Given the description of an element on the screen output the (x, y) to click on. 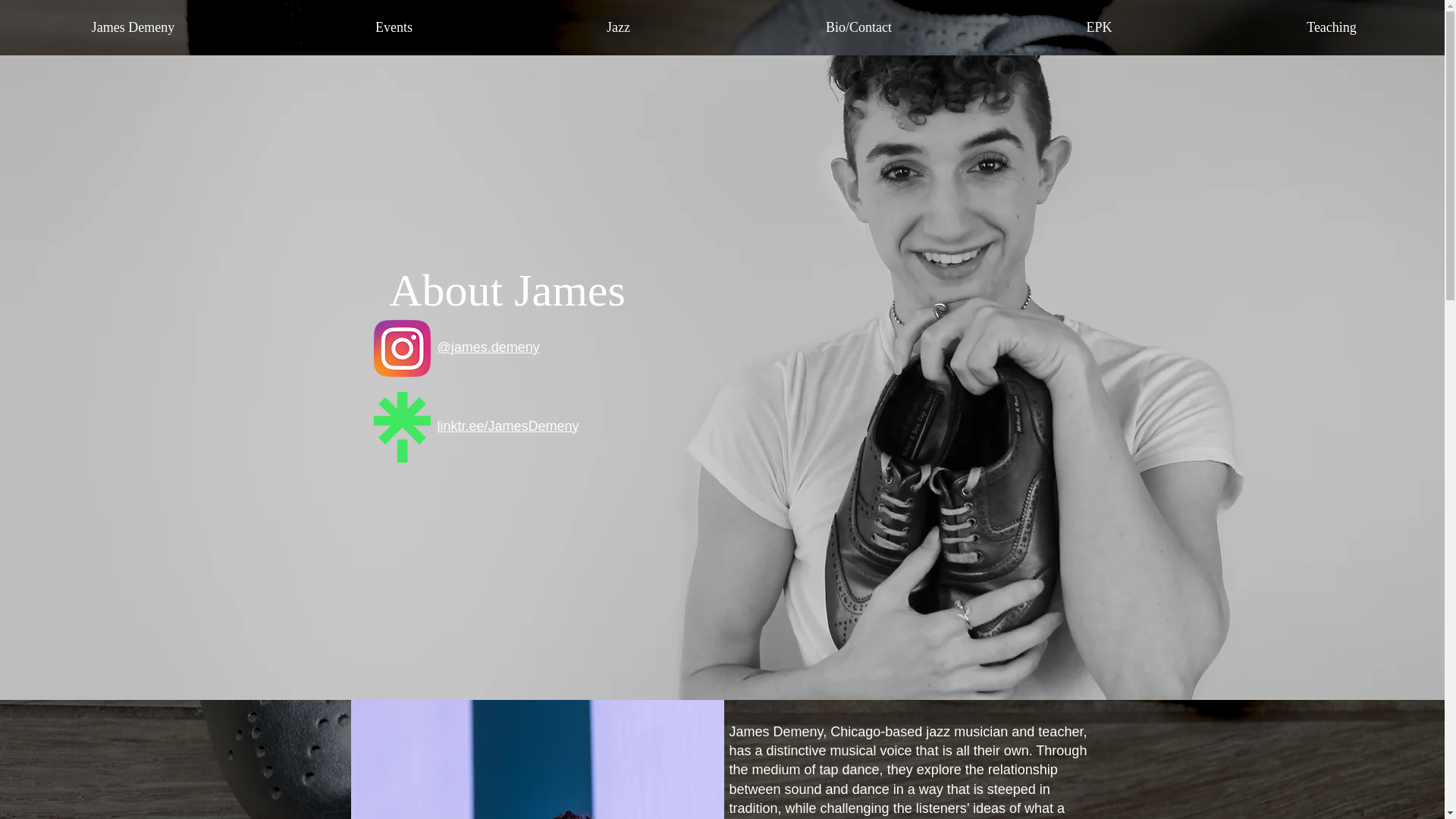
Events (394, 27)
Jazz (618, 27)
James Demeny (139, 27)
EPK (1099, 27)
